Given the description of an element on the screen output the (x, y) to click on. 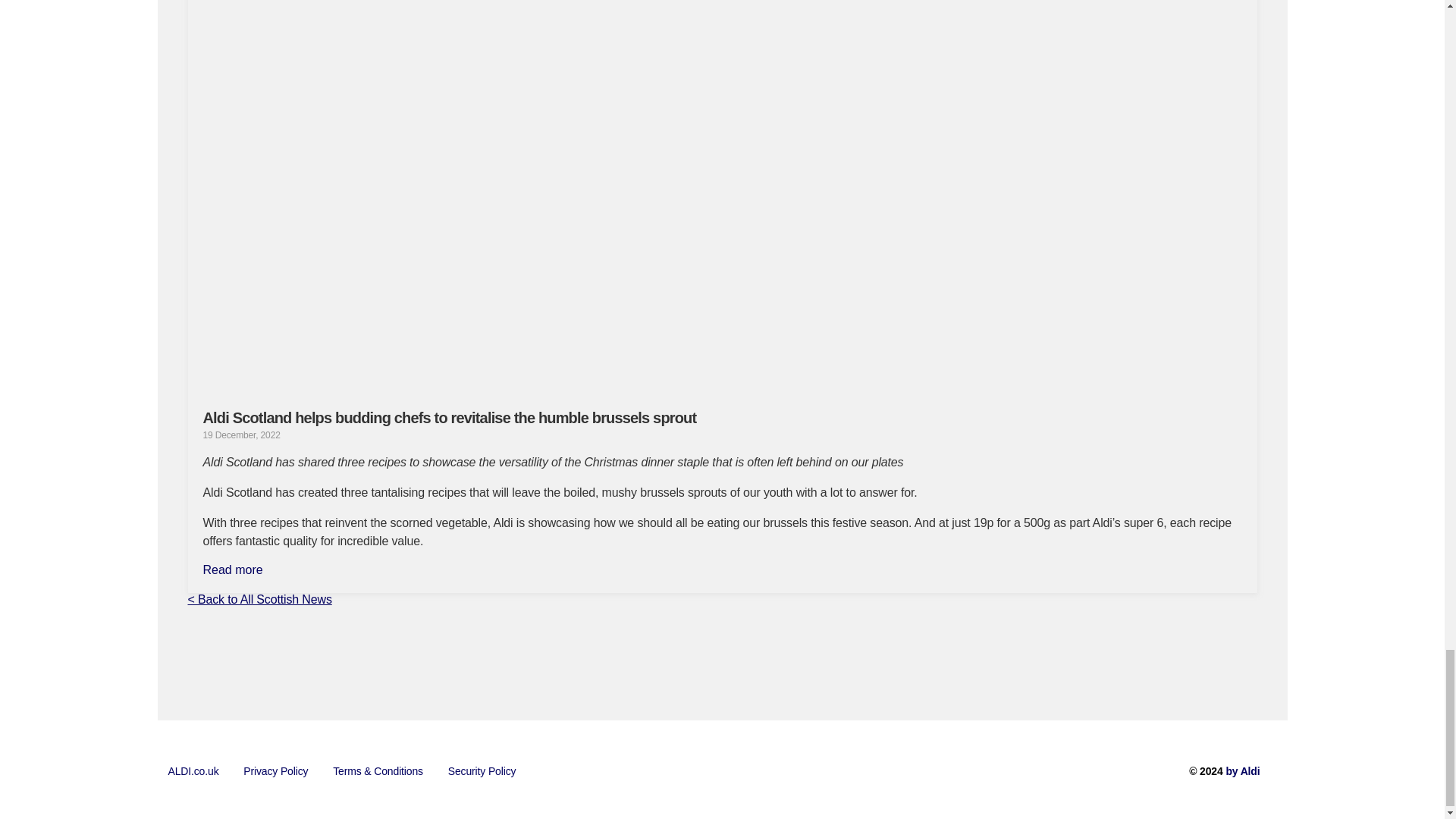
Privacy Policy (275, 771)
ALDI.co.uk (193, 771)
Security Policy (482, 771)
